Given the description of an element on the screen output the (x, y) to click on. 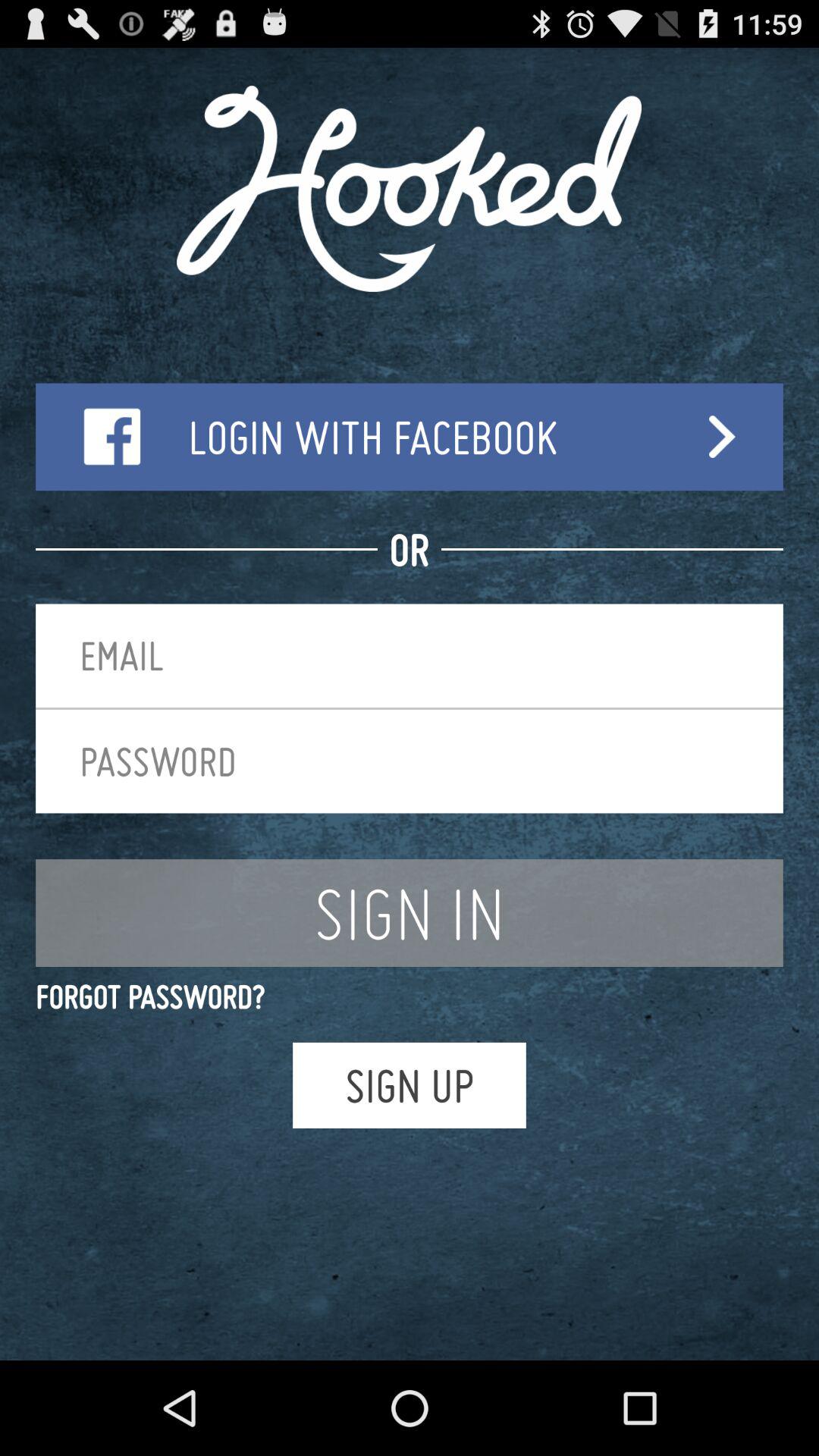
choose button below sign in item (409, 996)
